Given the description of an element on the screen output the (x, y) to click on. 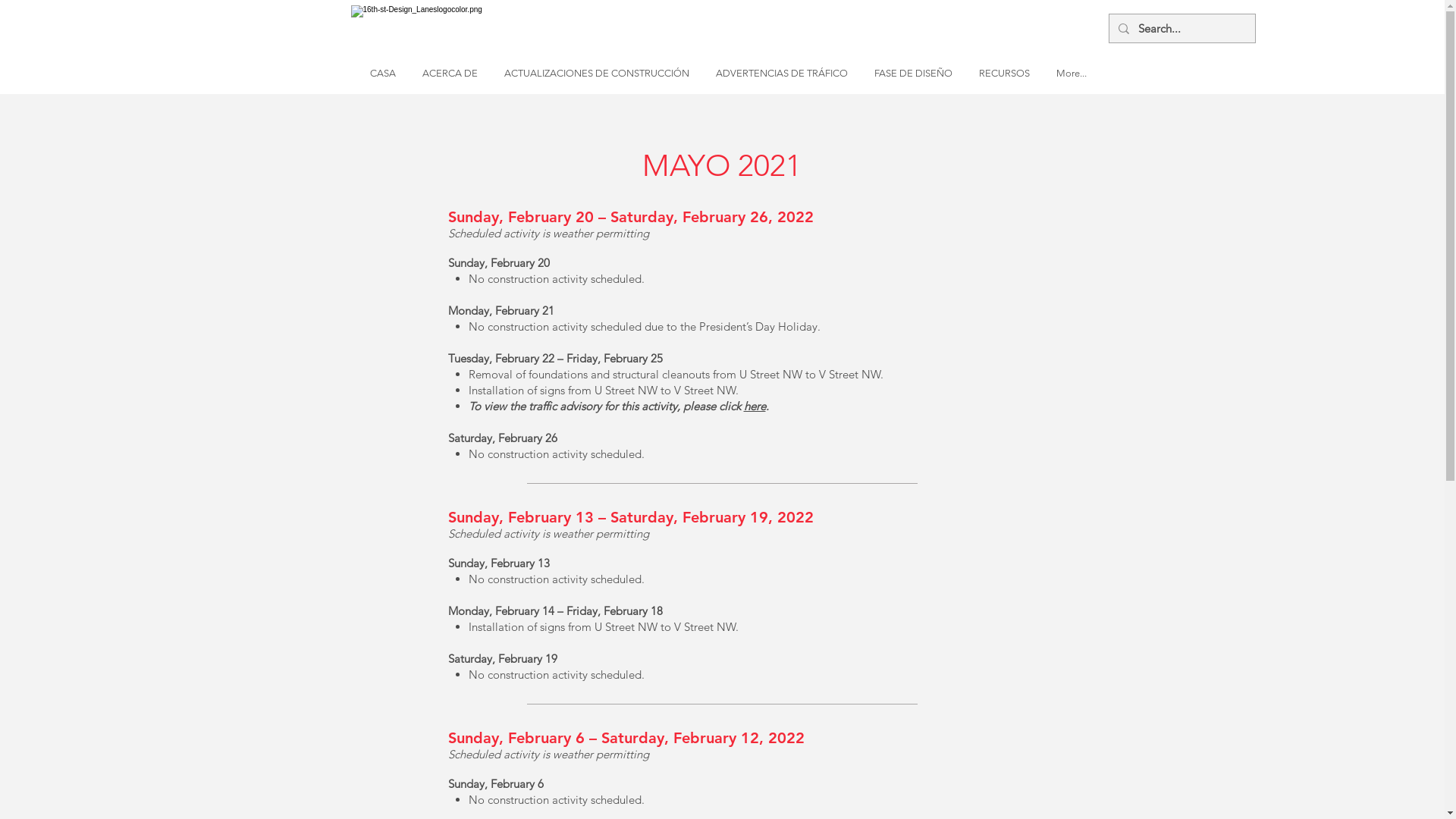
CASA Element type: text (382, 73)
ACERCA DE Element type: text (450, 73)
here Element type: text (754, 405)
